Given the description of an element on the screen output the (x, y) to click on. 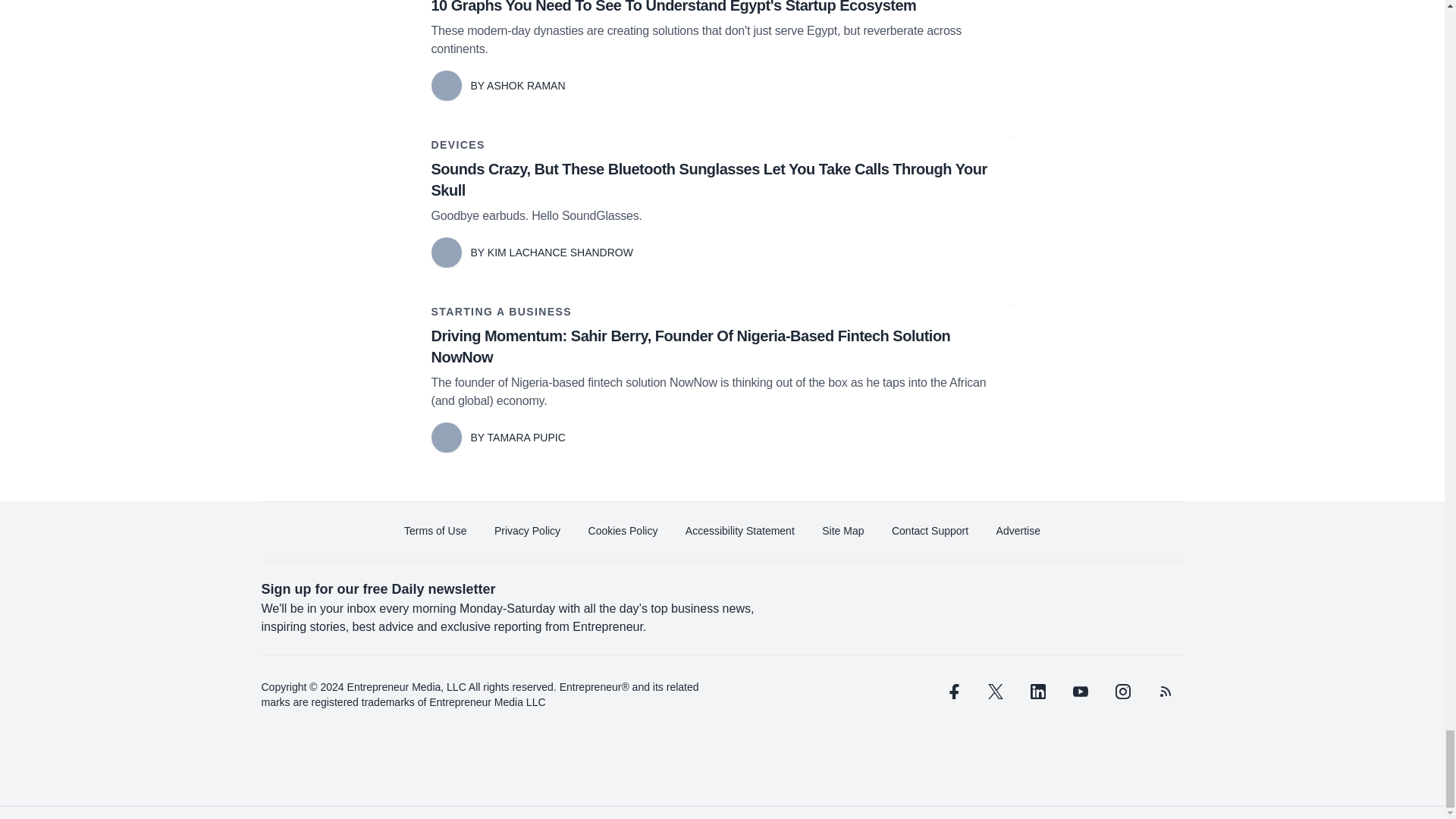
twitter (994, 691)
rss (1164, 691)
youtube (1079, 691)
facebook (952, 691)
instagram (1121, 691)
linkedin (1037, 691)
